Given the description of an element on the screen output the (x, y) to click on. 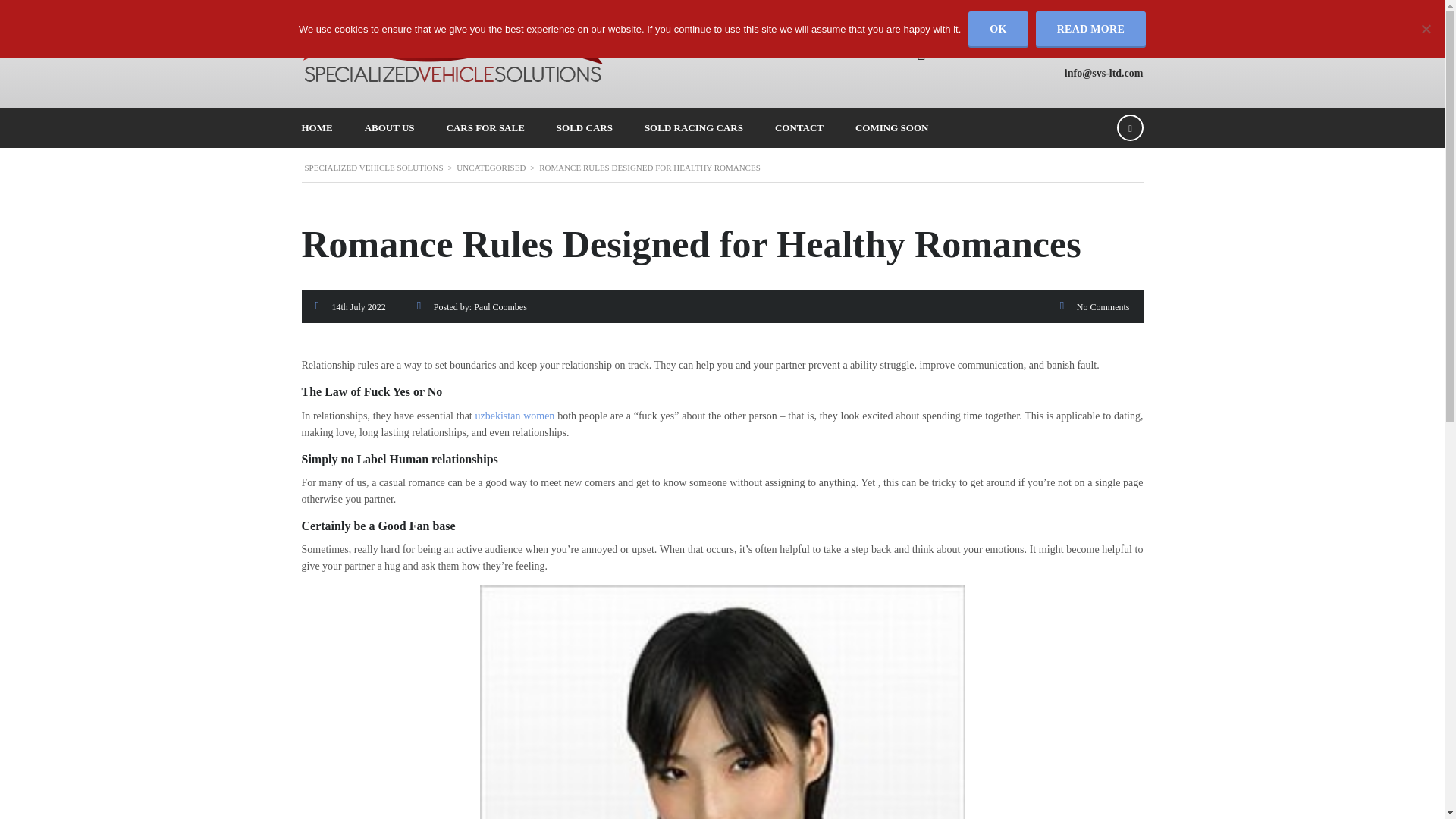
ABOUT US (389, 128)
READ MORE (1090, 28)
uzbekistan women (515, 415)
HOME (316, 128)
UNCATEGORISED (491, 166)
No Comments (1103, 307)
COMING SOON (891, 128)
Home (453, 55)
OK (997, 28)
Go to Specialized Vehicle Solutions. (374, 166)
Go to the Uncategorised Category archives. (491, 166)
0161 789 0504 (991, 51)
CONTACT (799, 128)
SOLD RACING CARS (693, 128)
SPECIALIZED VEHICLE SOLUTIONS (374, 166)
